Given the description of an element on the screen output the (x, y) to click on. 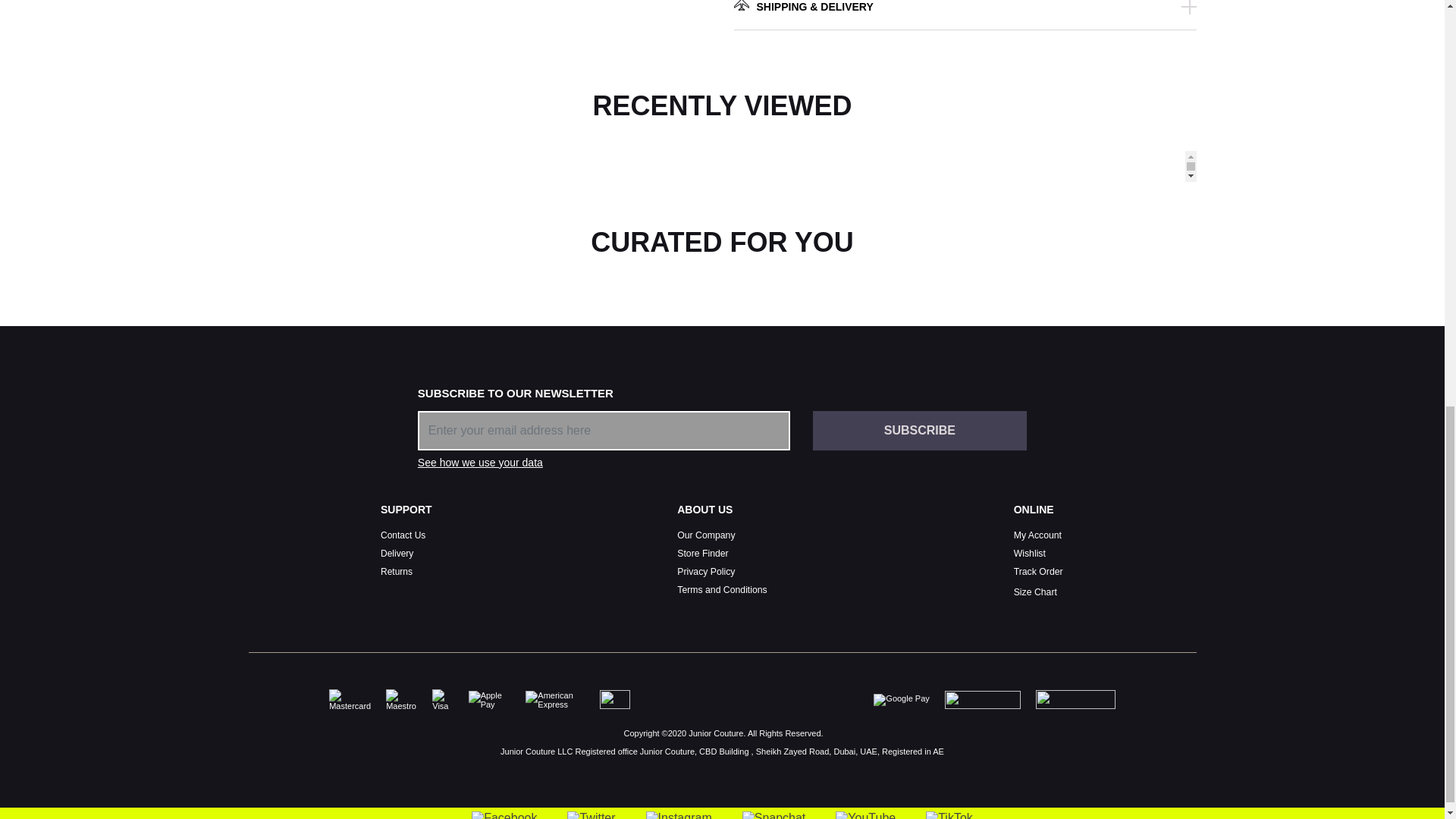
Go to Privacy (706, 571)
Go to Our Company (706, 534)
Go to Contact Us (402, 534)
Track Order (1037, 571)
Wishlist (1029, 552)
My Account (1037, 534)
Go to Store Locator (702, 552)
Go to Terms (722, 589)
